Given the description of an element on the screen output the (x, y) to click on. 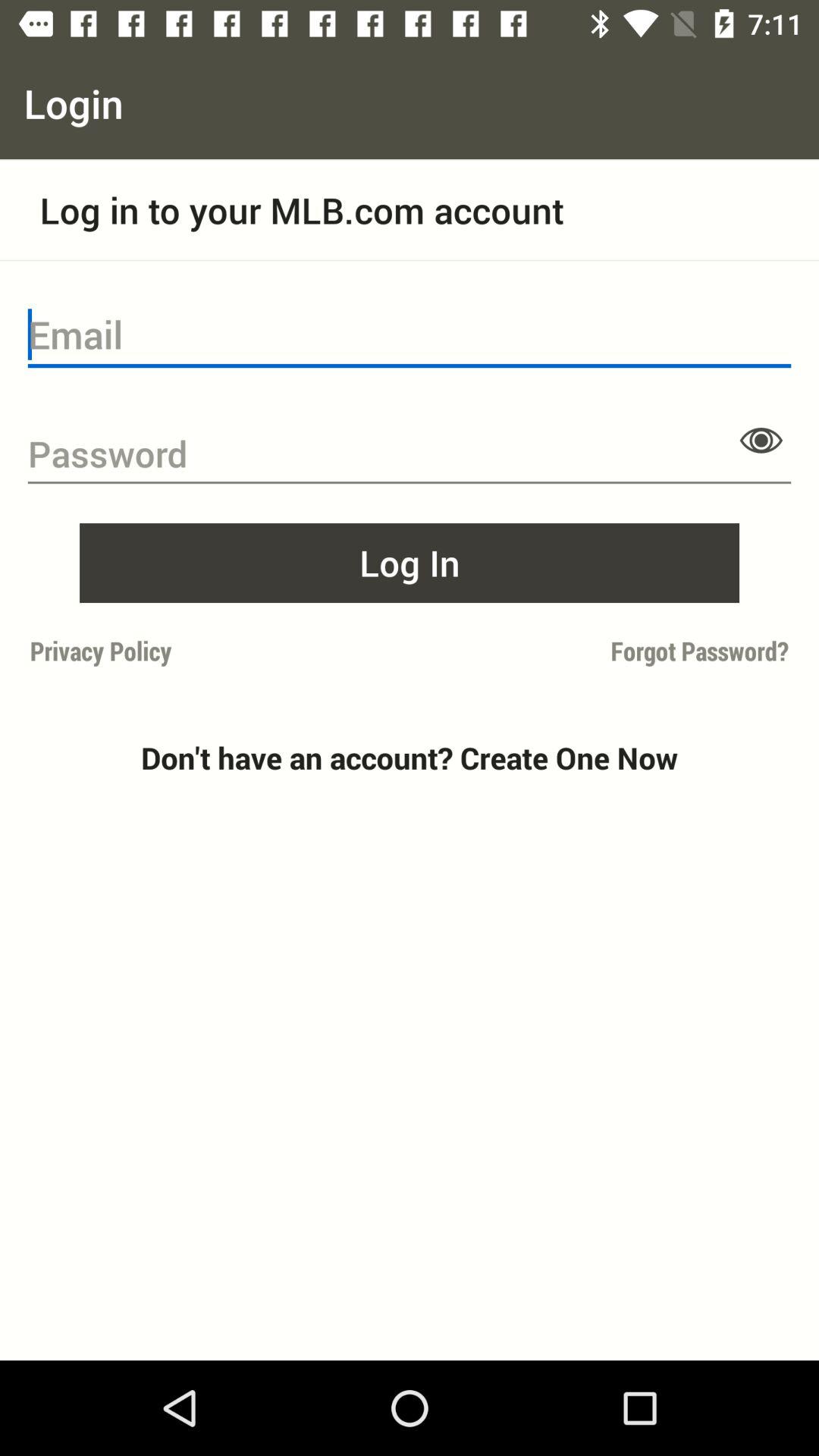
jump to forgot password? (604, 650)
